Given the description of an element on the screen output the (x, y) to click on. 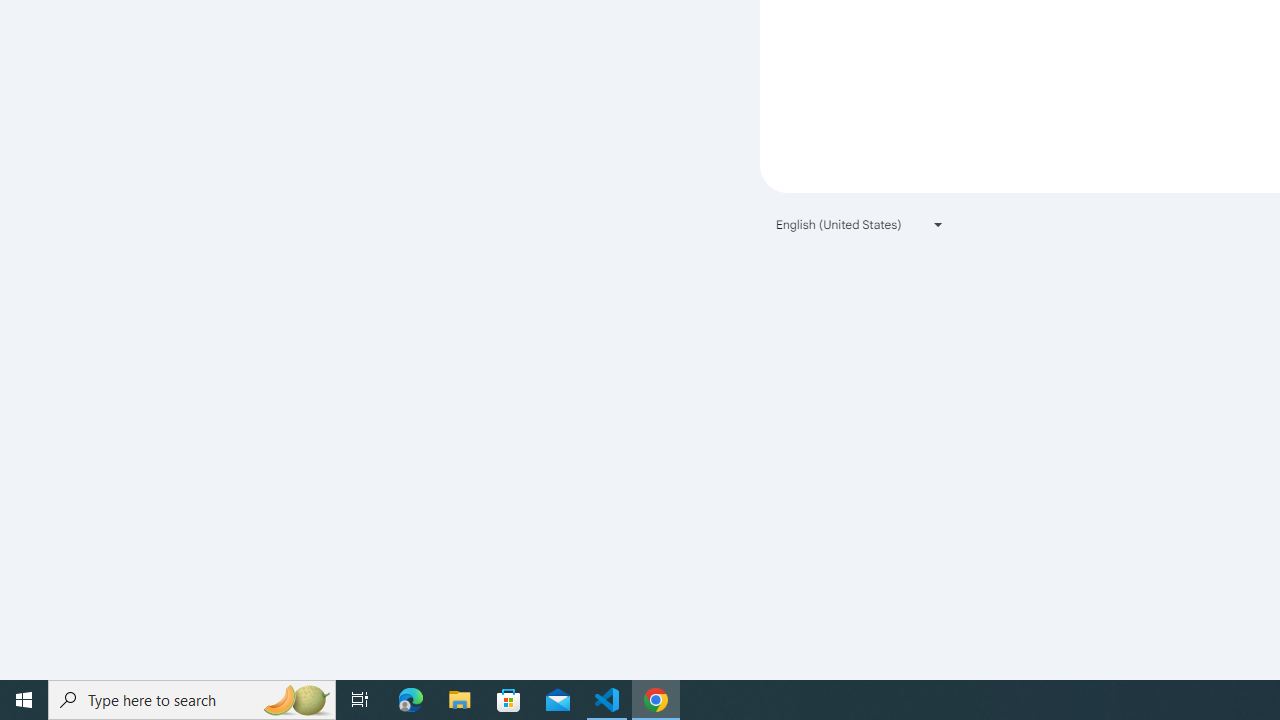
English (United States) (860, 224)
